Given the description of an element on the screen output the (x, y) to click on. 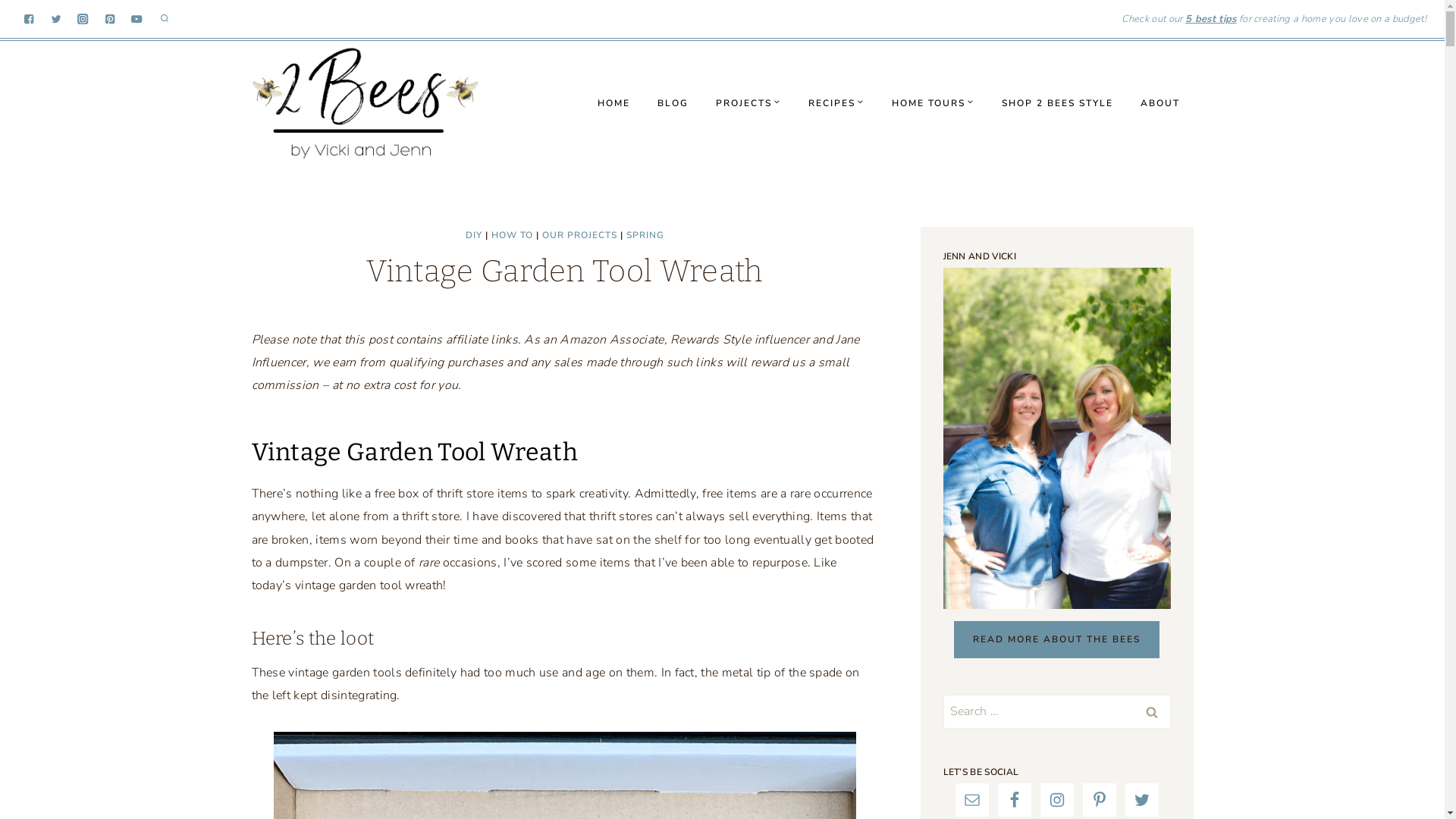
READ MORE ABOUT THE BEES Element type: text (1056, 639)
SHOP 2 BEES STYLE Element type: text (1056, 103)
HOW TO Element type: text (512, 235)
Search Element type: text (1151, 709)
HOME Element type: text (613, 103)
OUR PROJECTS Element type: text (578, 235)
DIY Element type: text (473, 235)
SPRING Element type: text (645, 235)
PROJECTS Element type: text (748, 103)
ABOUT Element type: text (1159, 103)
HOME TOURS Element type: text (933, 103)
RECIPES Element type: text (836, 103)
5 best tips Element type: text (1210, 18)
BLOG Element type: text (672, 103)
